Given the description of an element on the screen output the (x, y) to click on. 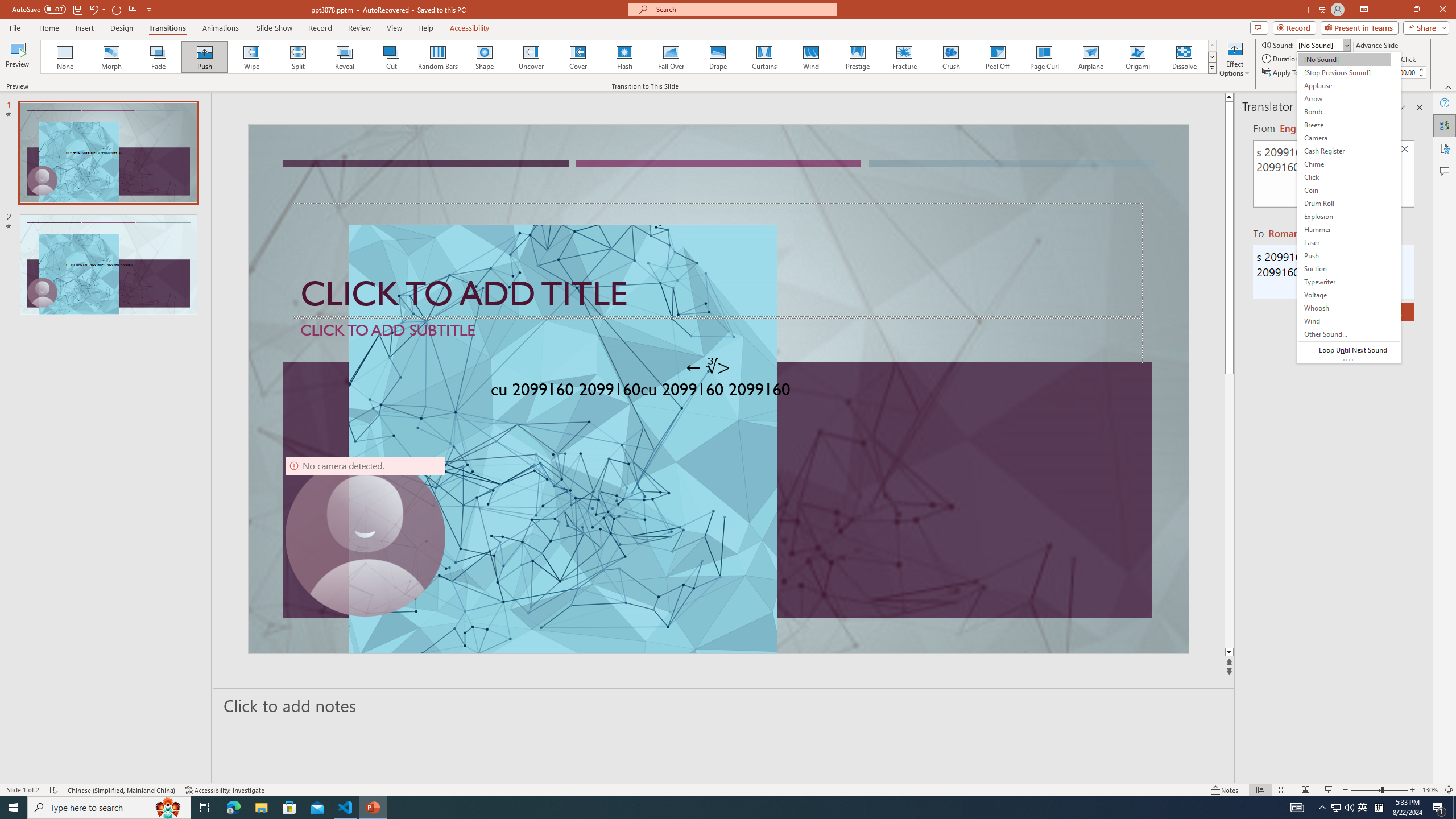
Prestige (857, 56)
Uncover (531, 56)
Microsoft Edge (233, 807)
Less (1420, 75)
